Given the description of an element on the screen output the (x, y) to click on. 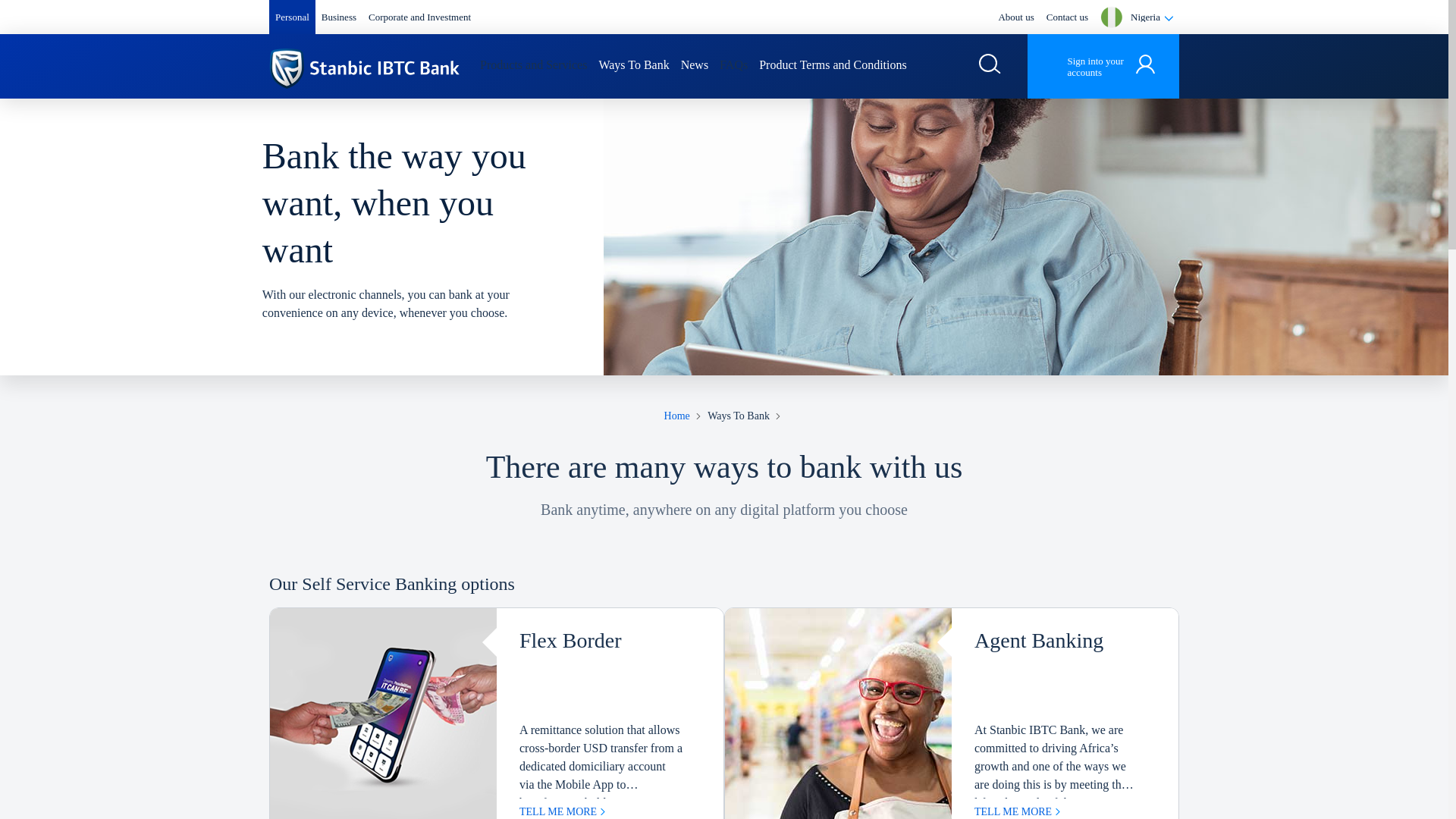
Corporate and Investment (419, 17)
About us (1015, 17)
News (694, 65)
Ways To Bank (633, 65)
FAQs (733, 65)
Contact us (1066, 17)
Standard Bank IBTC BANK Created with Sketch. (364, 68)
Product Terms and Conditions (832, 65)
Personal (291, 17)
Standard Bank IBTC BANK Created with Sketch. (1103, 66)
icon-search Created with Sketch. (364, 68)
icon-arrow-accordian Created with Sketch. (989, 63)
icon-user Created with Sketch. (1168, 17)
Nigeria Created with Sketch. (1144, 63)
